Given the description of an element on the screen output the (x, y) to click on. 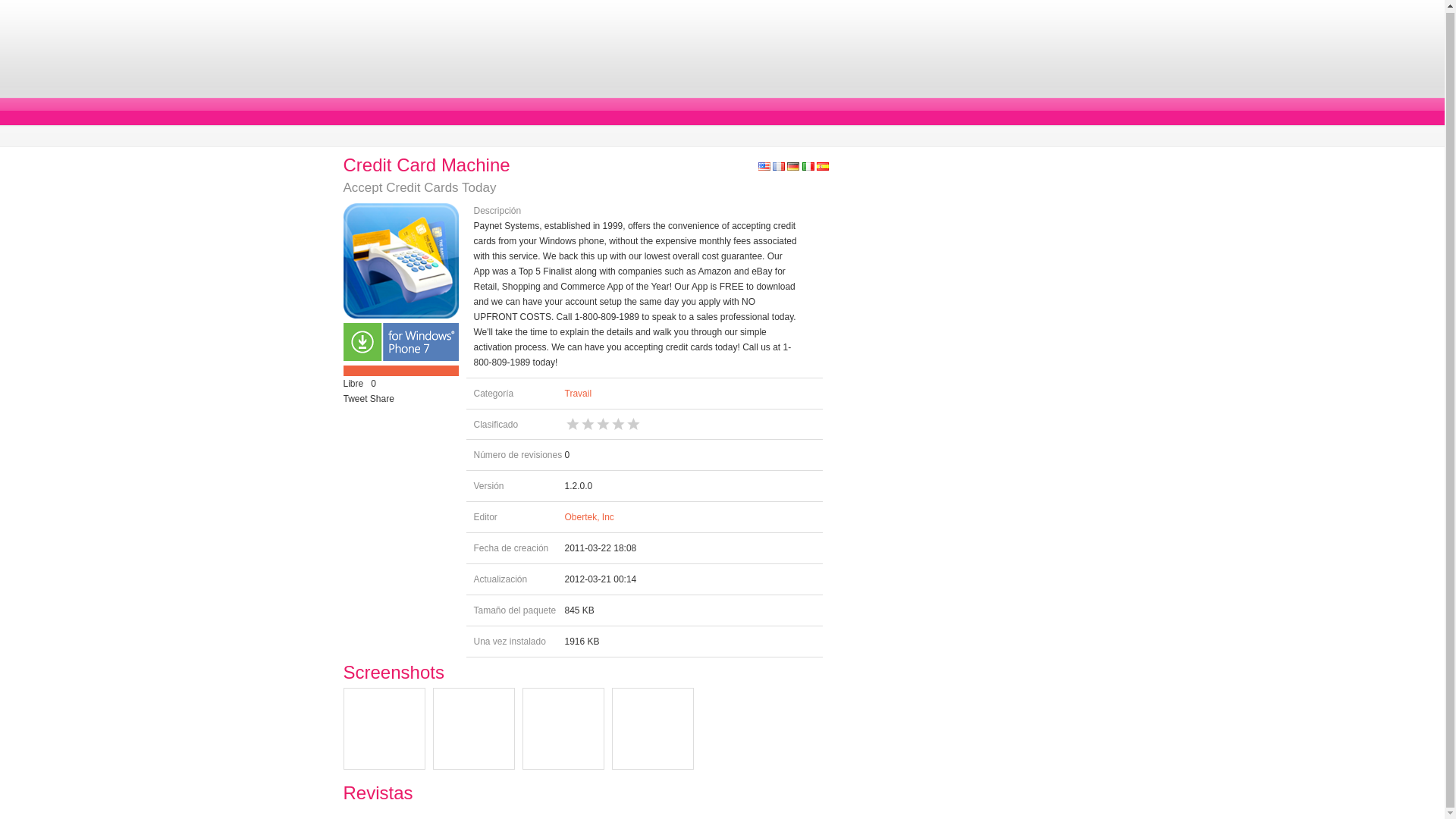
Travail (577, 393)
Revistas (377, 792)
Obertek, Inc (588, 516)
Credit Card Machine Screenshots (393, 671)
Credit Card Machine (425, 164)
Screenshots (393, 671)
Credit Card Machine's details (425, 164)
Credit Card Machine revistas (377, 792)
